Given the description of an element on the screen output the (x, y) to click on. 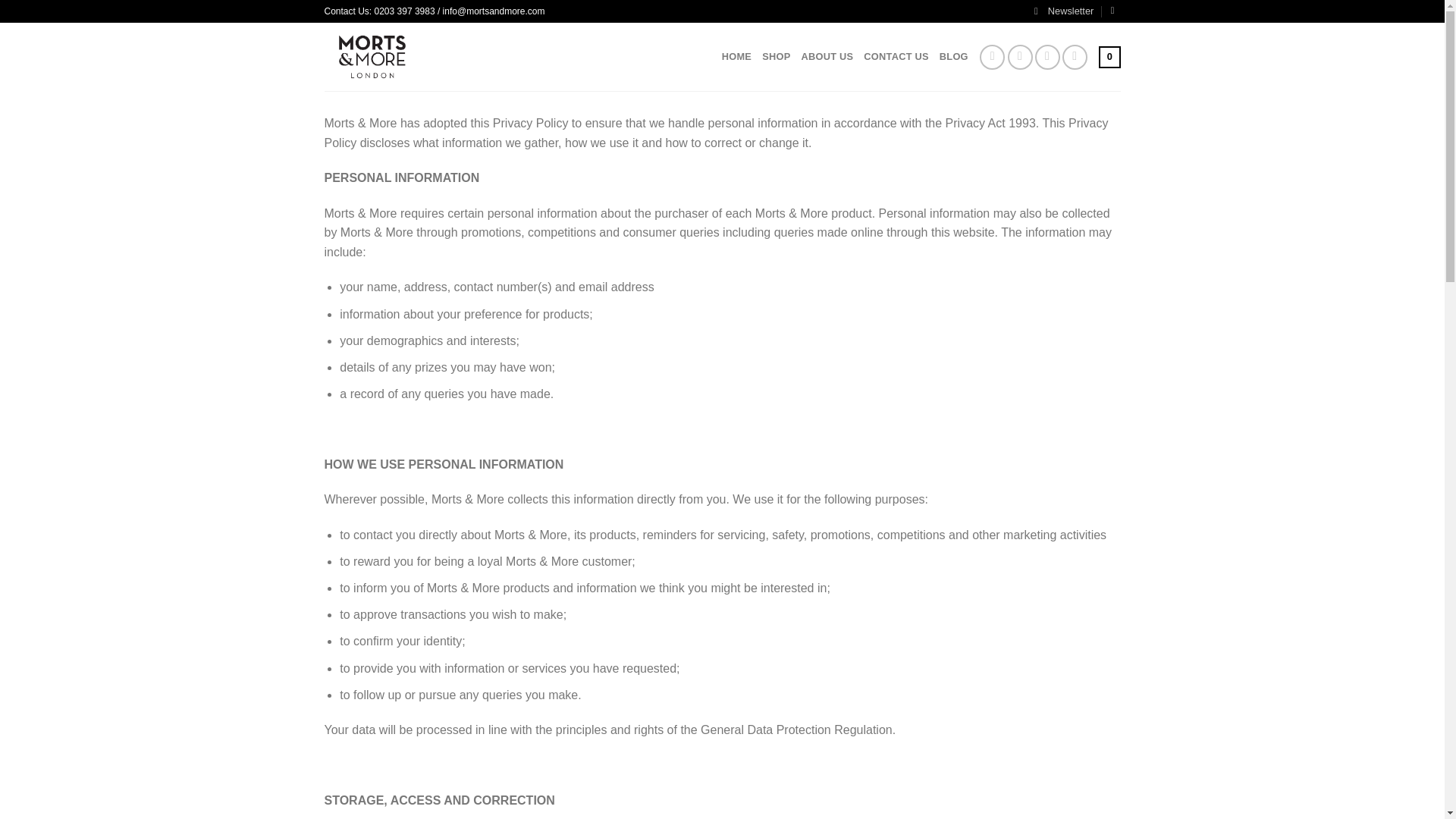
Follow on YouTube (1074, 57)
HOME (736, 56)
Follow on Twitter (1019, 57)
Follow on Instagram (991, 57)
BLOG (953, 56)
CONTACT US (895, 56)
ABOUT US (826, 56)
Morts and More - Official website of Morts and More (403, 56)
SHOP (775, 56)
Follow on LinkedIn (1047, 57)
Signup Now (1063, 11)
Newsletter (1063, 11)
